Given the description of an element on the screen output the (x, y) to click on. 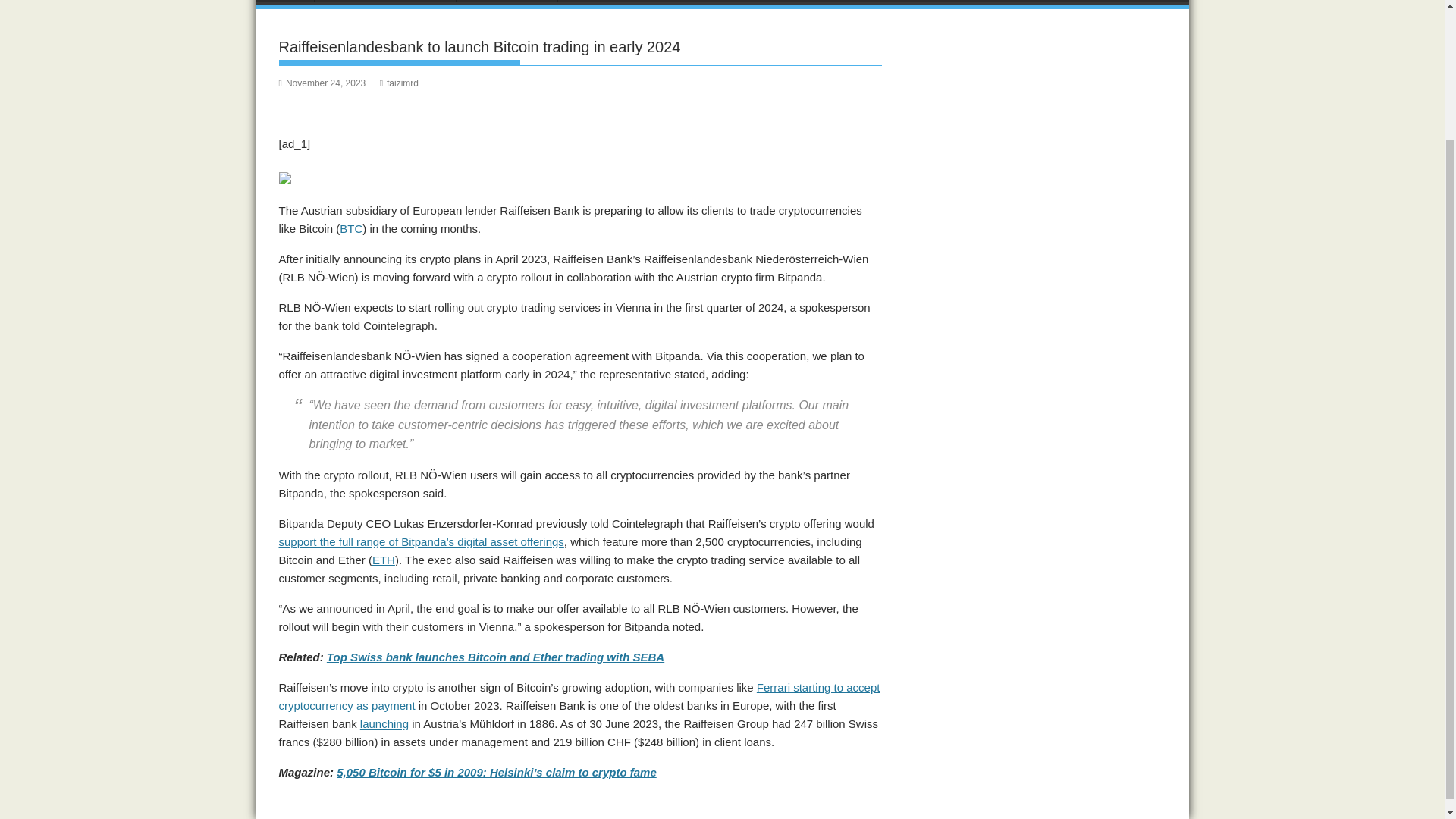
faizimrd (399, 82)
BTC (350, 228)
November 24, 2023 (322, 82)
BLOG (584, 2)
